Given the description of an element on the screen output the (x, y) to click on. 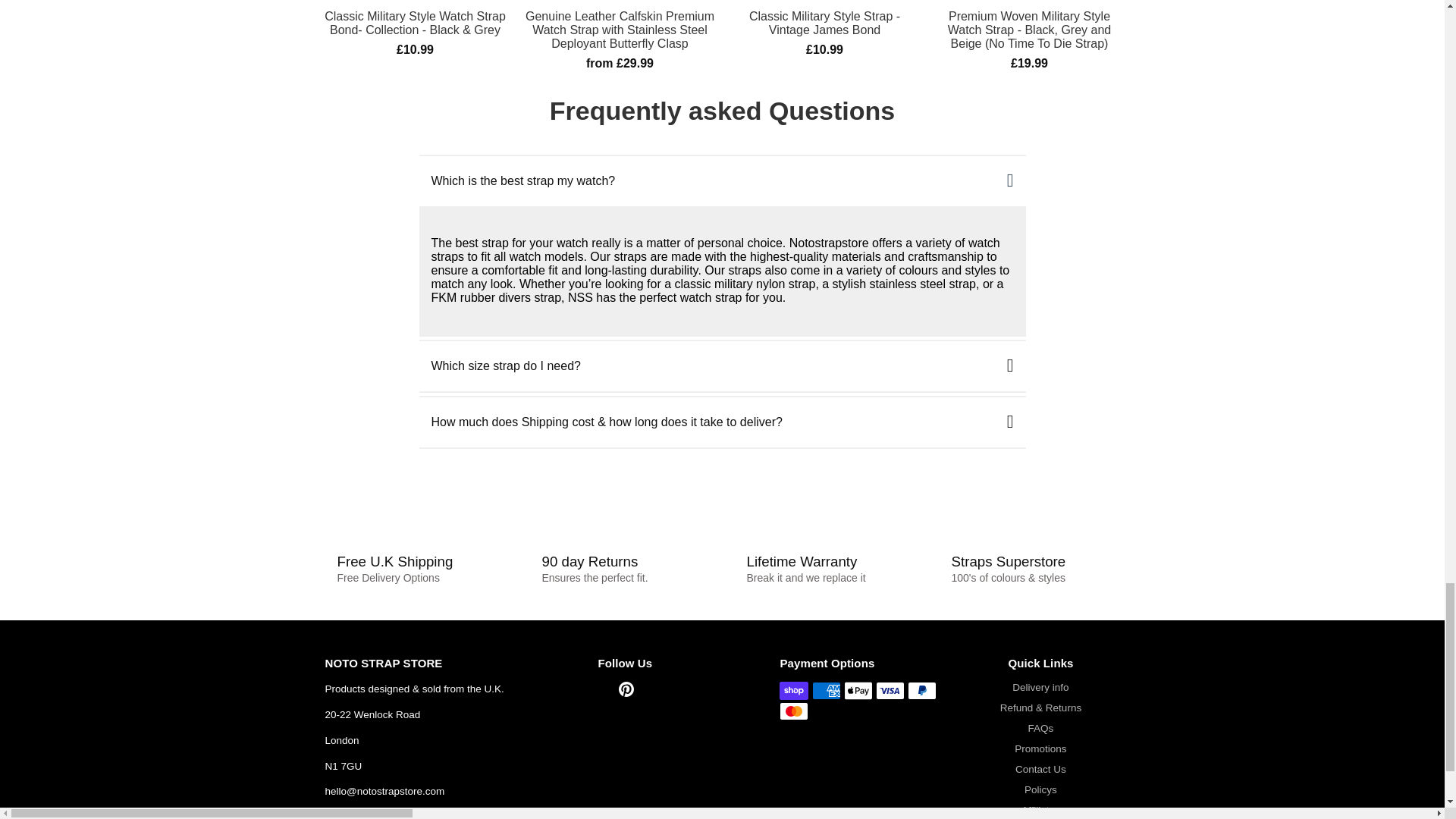
Mastercard (793, 710)
American Express (826, 690)
Shop Pay (793, 690)
PayPal (921, 690)
Apple Pay (858, 690)
Visa (890, 690)
